Given the description of an element on the screen output the (x, y) to click on. 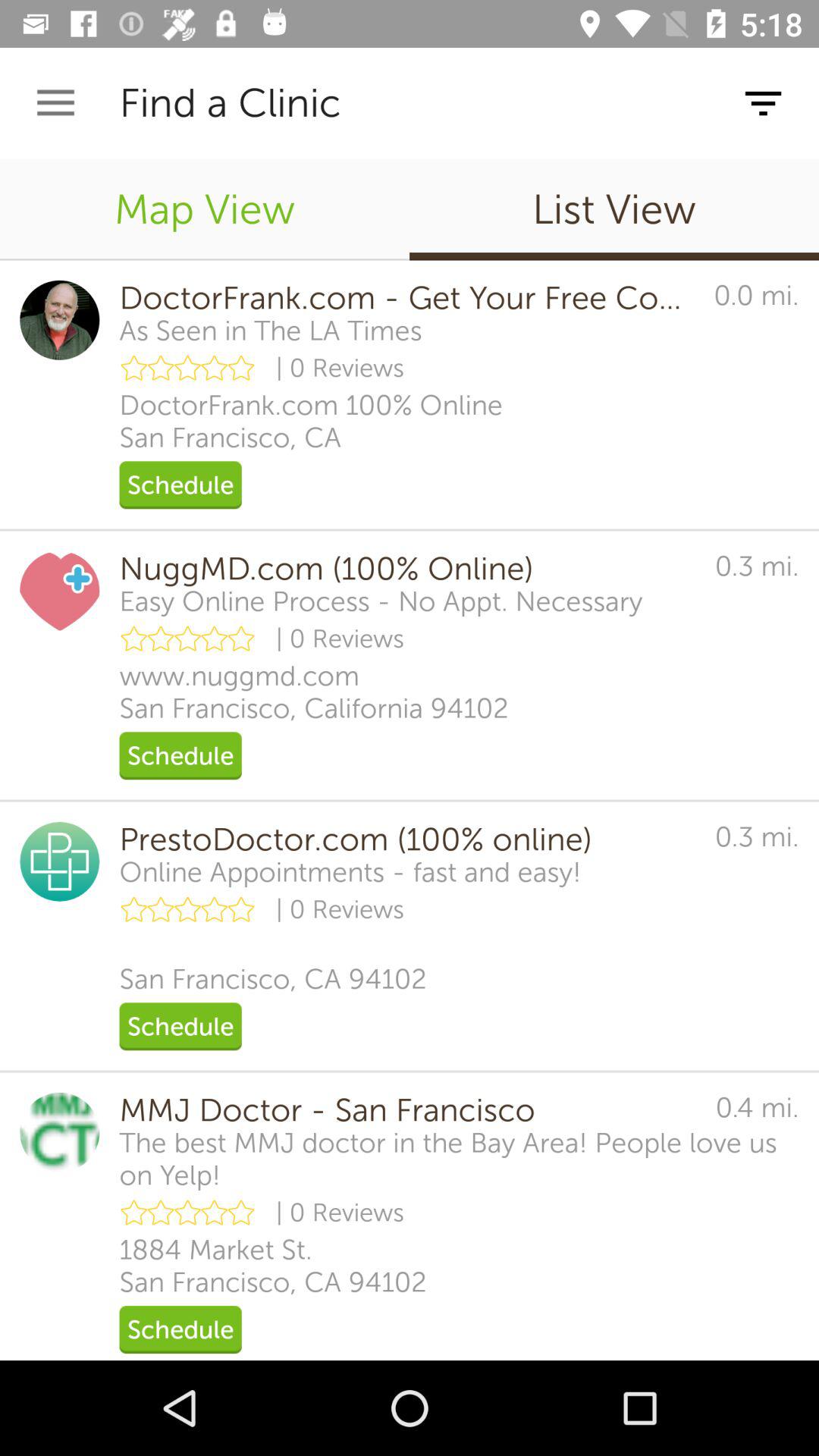
click the icon next to the list view item (204, 209)
